Given the description of an element on the screen output the (x, y) to click on. 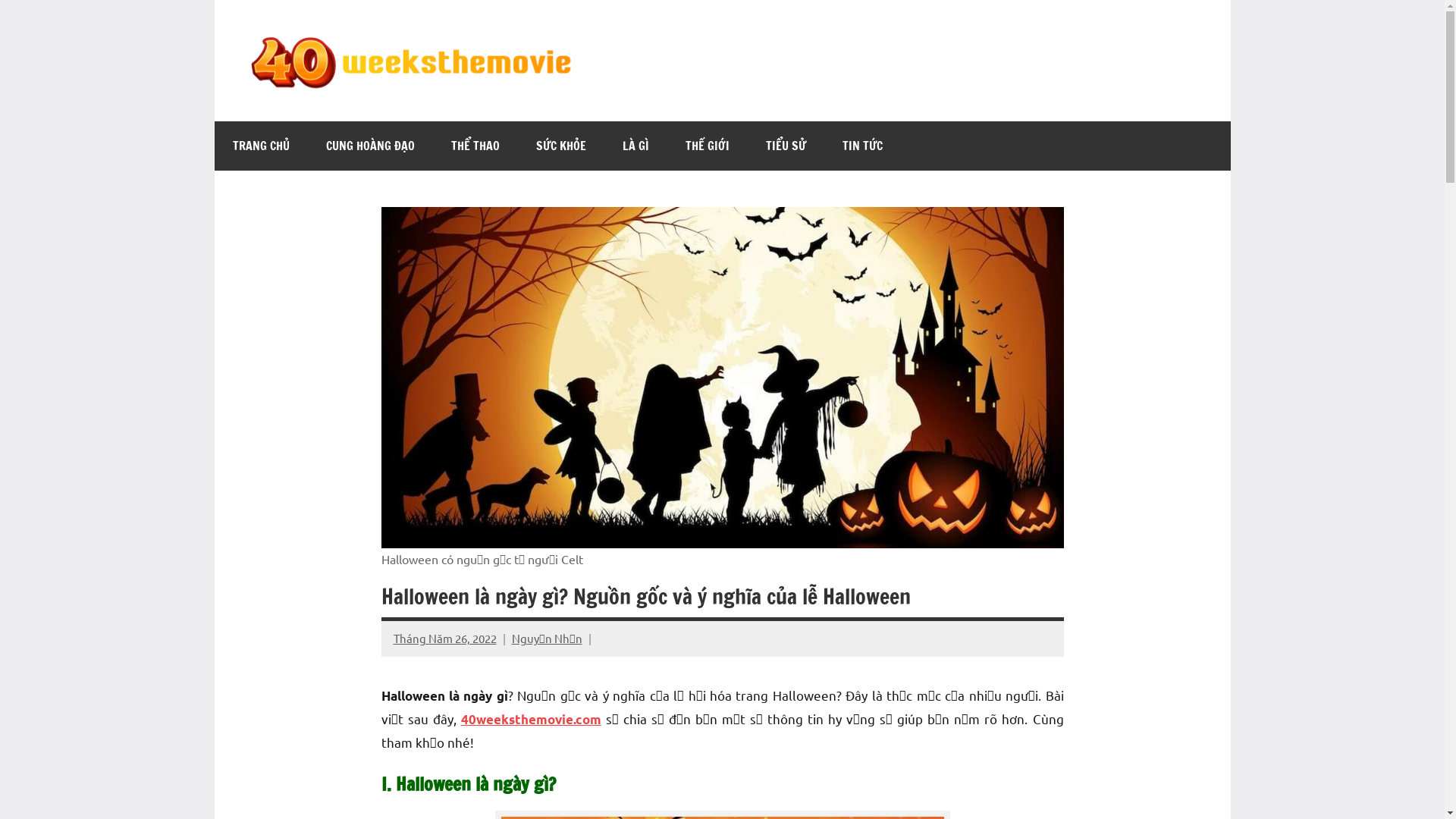
Skip to content Element type: text (213, 0)
40weeksthemovie.com Element type: text (730, 80)
40weeksthemovie.com Element type: text (531, 718)
